Given the description of an element on the screen output the (x, y) to click on. 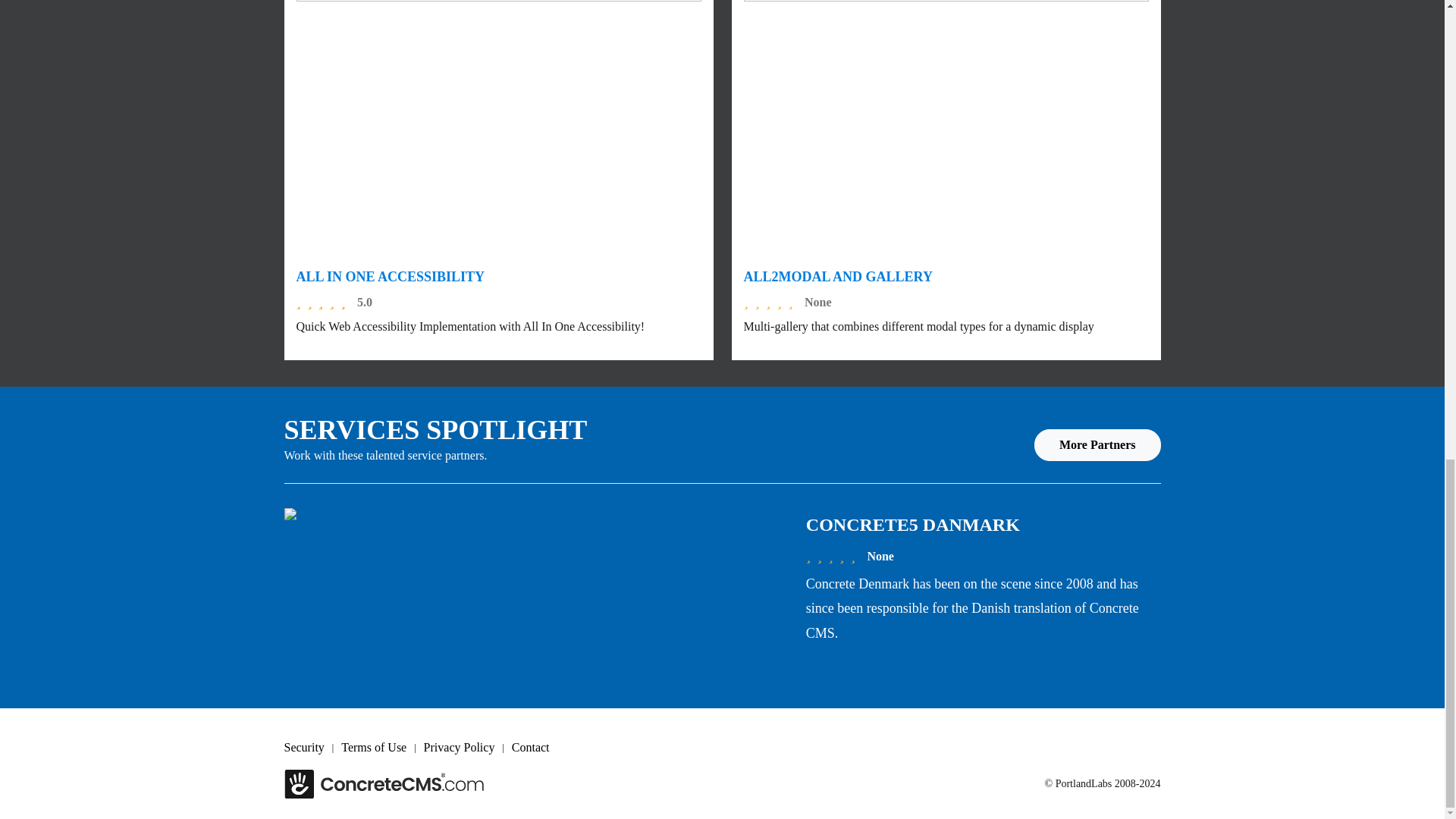
ALL2MODAL AND GALLERY (836, 276)
ALL IN ONE ACCESSIBILITY (389, 276)
Security (311, 747)
Privacy Policy (467, 747)
CONCRETE5 DANMARK (913, 524)
More Partners (1096, 445)
Terms of Use (381, 747)
Contact (538, 747)
